Given the description of an element on the screen output the (x, y) to click on. 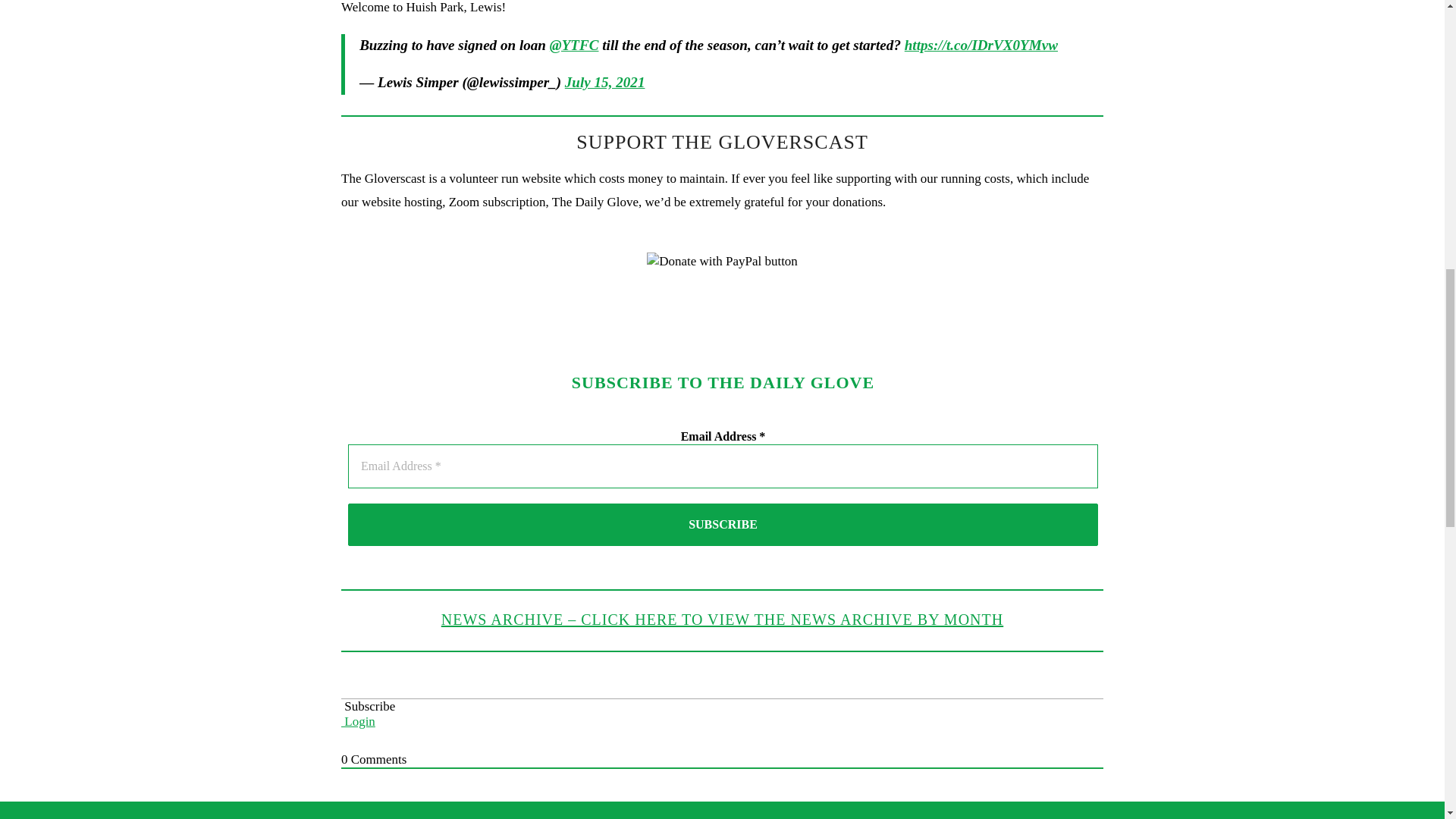
SUBSCRIBE (722, 524)
Email Address (722, 466)
PayPal - The safer, easier way to pay online! (721, 261)
